Given the description of an element on the screen output the (x, y) to click on. 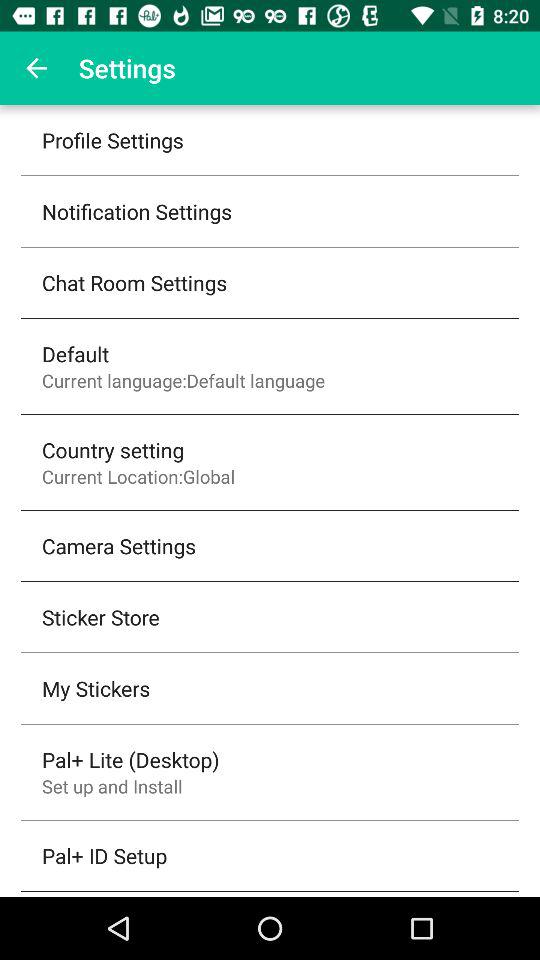
select the icon below the current location:global icon (119, 545)
